Given the description of an element on the screen output the (x, y) to click on. 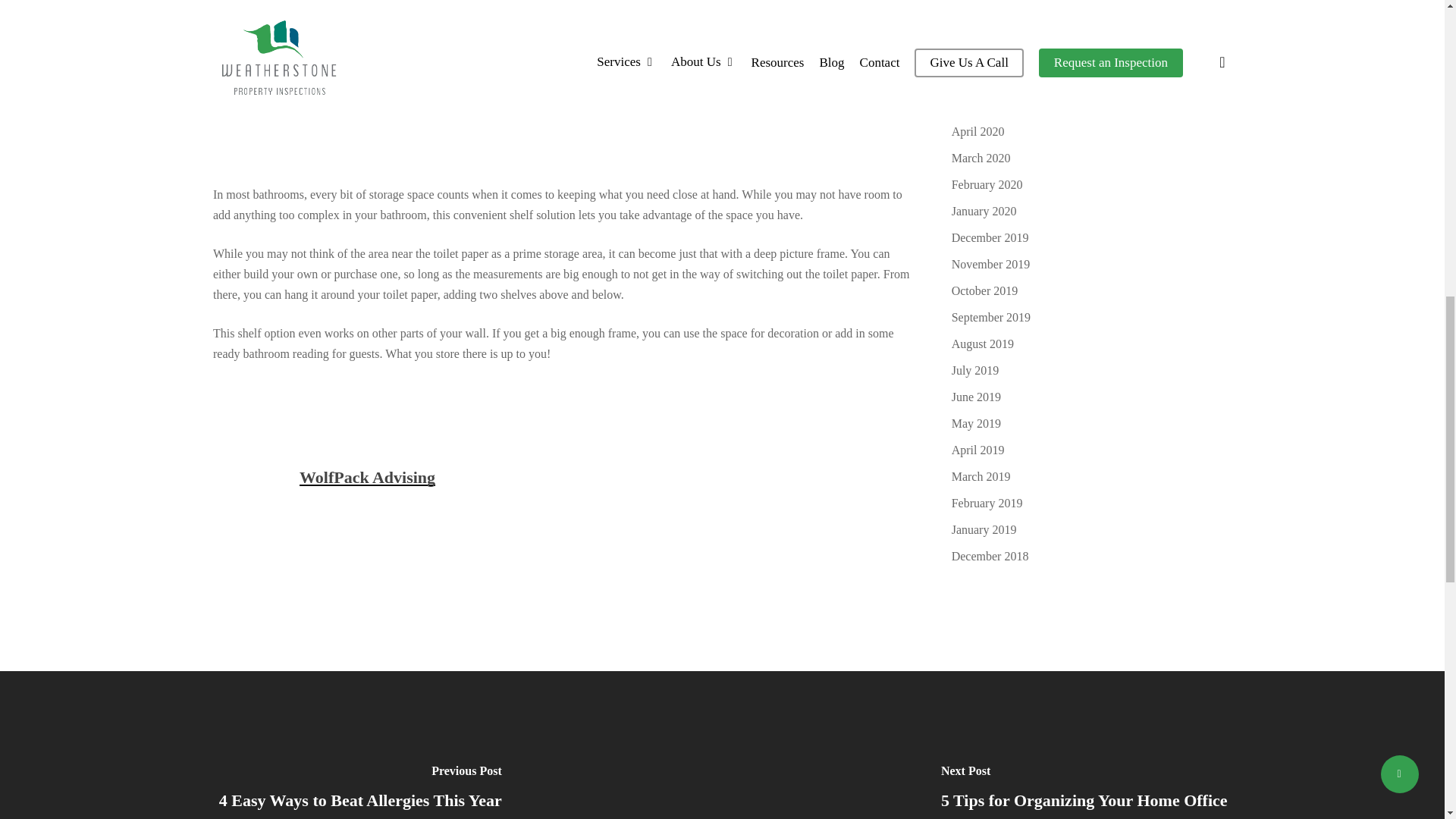
June 2020 (1091, 77)
April 2020 (1091, 131)
May 2020 (1091, 105)
February 2020 (1091, 184)
August 2020 (1091, 25)
WolfPack Advising (367, 476)
March 2020 (1091, 158)
September 2020 (1091, 4)
July 2020 (1091, 51)
